Given the description of an element on the screen output the (x, y) to click on. 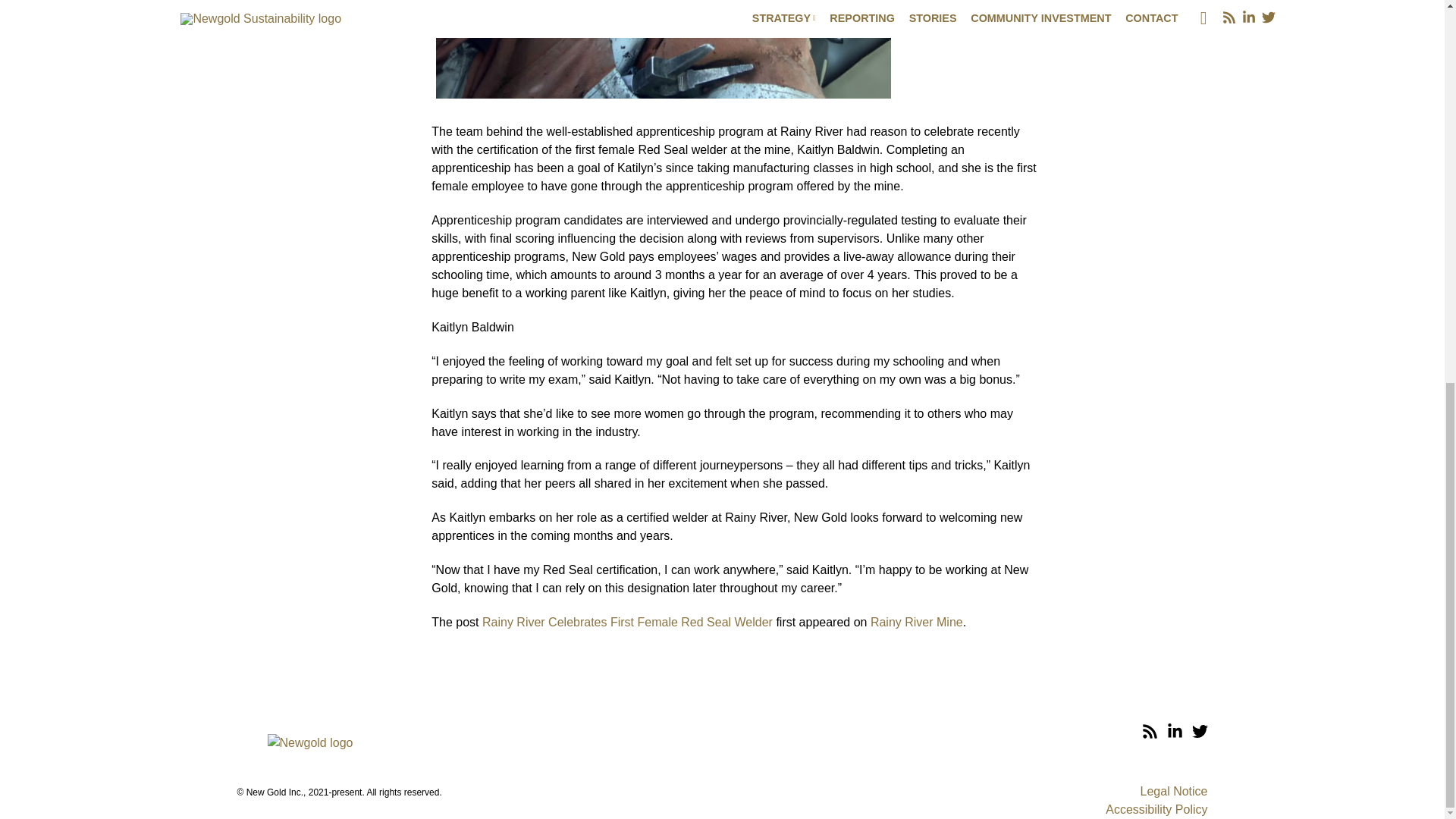
Rainy River Celebrates First Female Red Seal Welder (627, 621)
Rainy River Mine (916, 621)
